Given the description of an element on the screen output the (x, y) to click on. 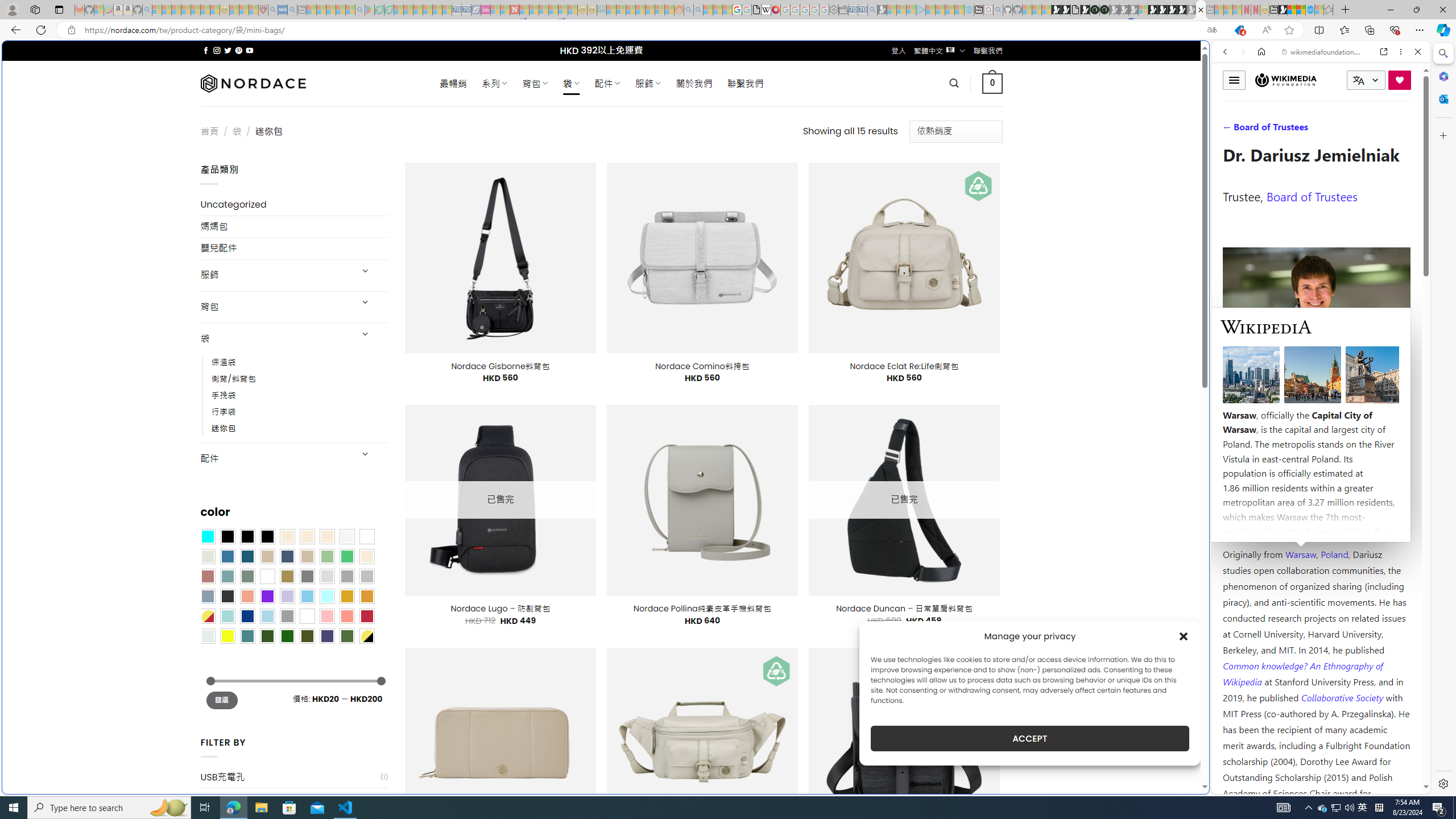
IMAGES (1262, 130)
Search Filter, VIDEOS (1300, 129)
Uncategorized (294, 204)
Trusted Community Engagement and Contributions | Guidelines (524, 9)
Target page - Wikipedia (766, 9)
